Given the description of an element on the screen output the (x, y) to click on. 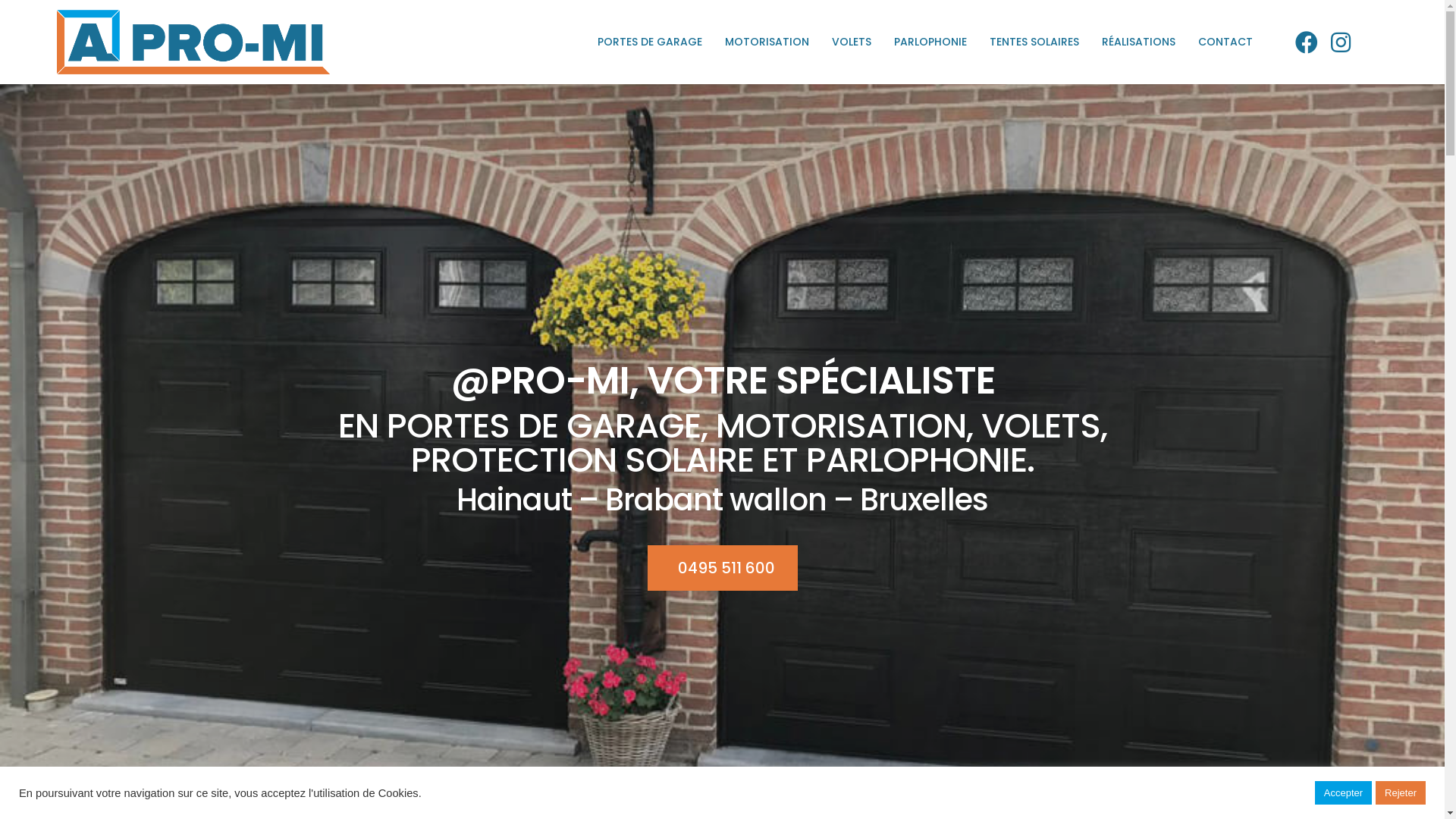
VOLETS Element type: text (851, 42)
0495 511 600 Element type: text (722, 567)
TENTES SOLAIRES Element type: text (1034, 42)
CONTACT Element type: text (1225, 42)
PARLOPHONIE Element type: text (930, 42)
Rejeter Element type: text (1400, 792)
MOTORISATION Element type: text (766, 42)
Accepter Element type: text (1342, 792)
PORTES DE GARAGE Element type: text (649, 42)
